Given the description of an element on the screen output the (x, y) to click on. 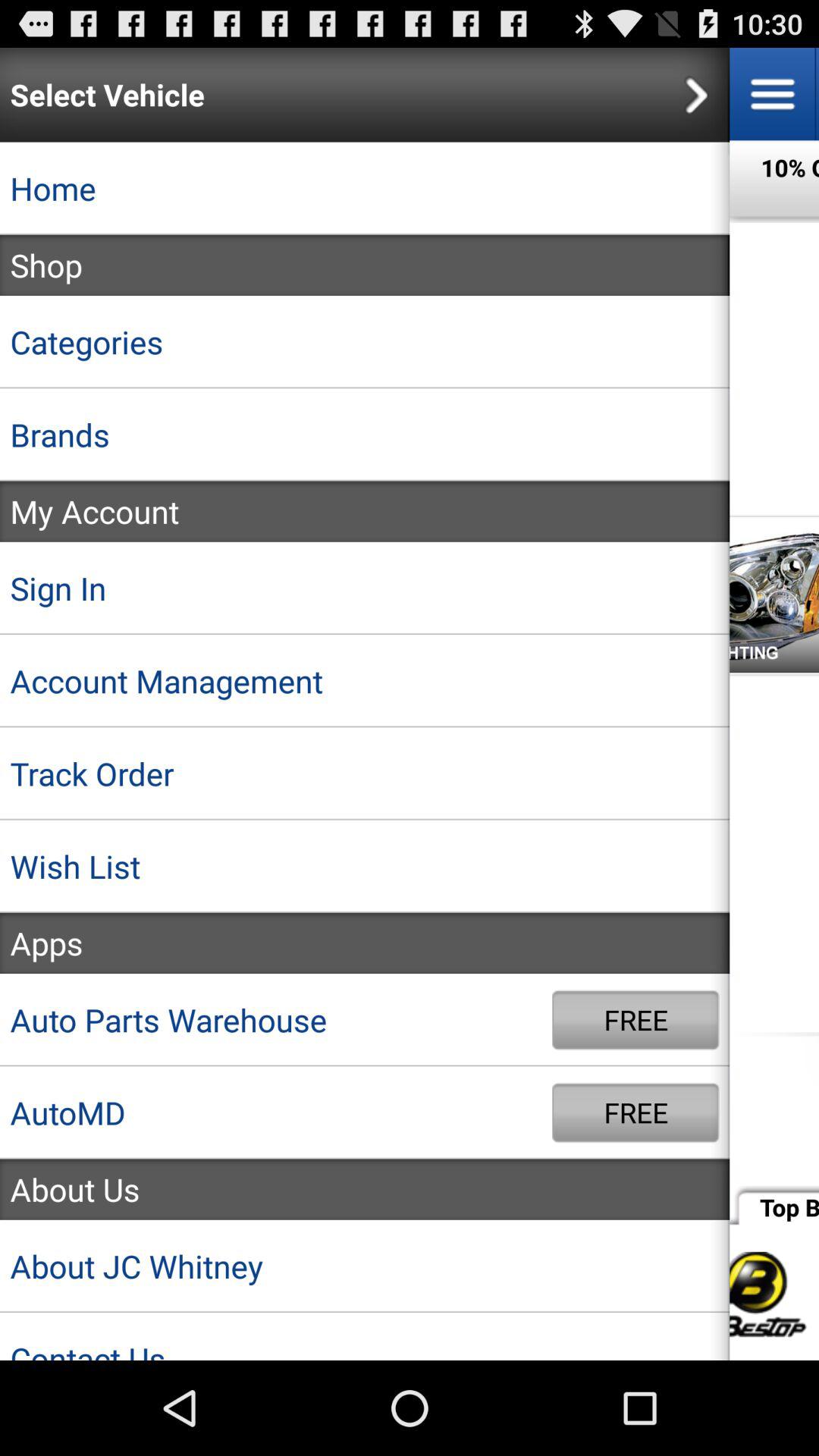
flip to about jc whitney (364, 1265)
